Given the description of an element on the screen output the (x, y) to click on. 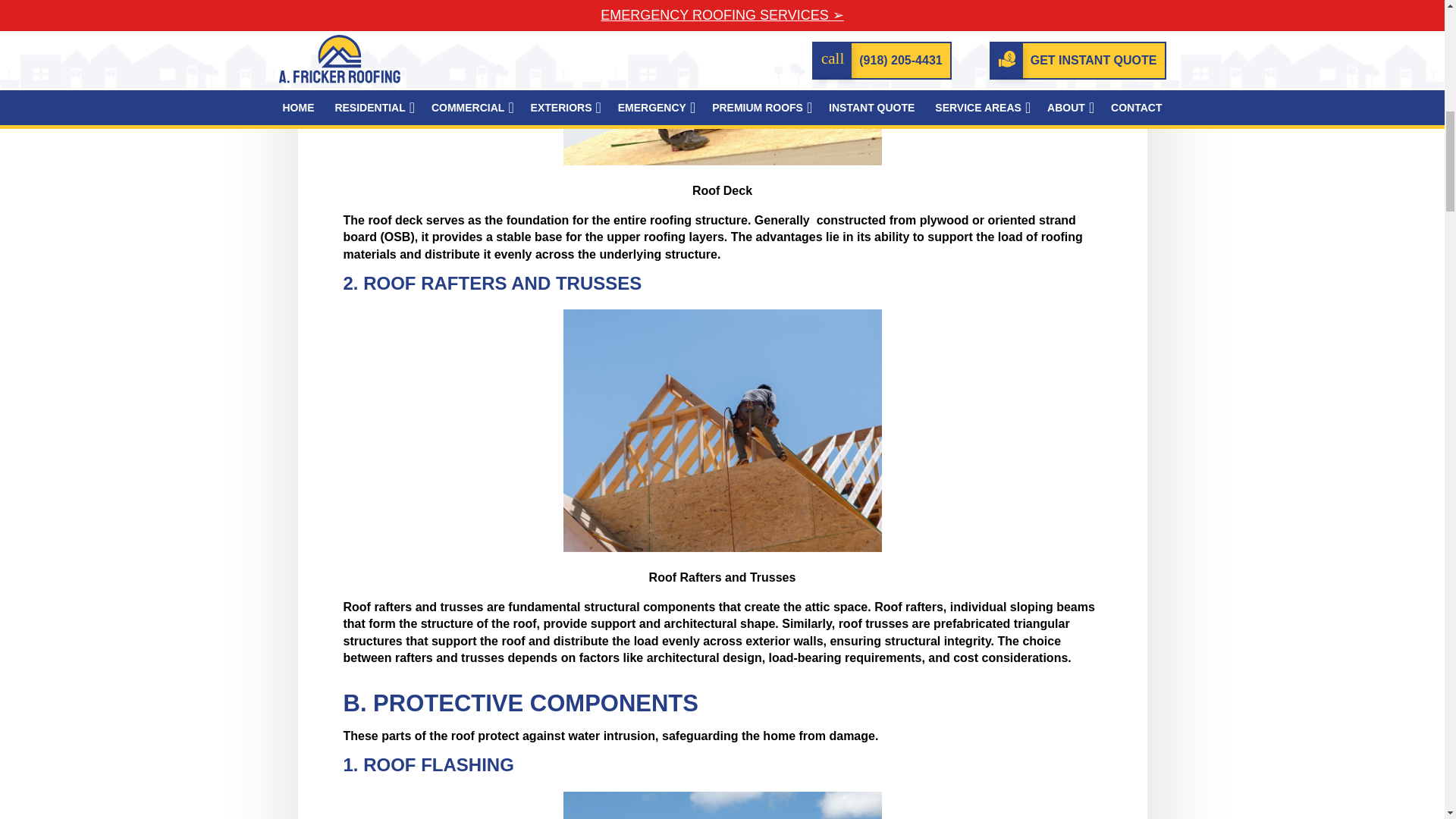
Roofing Terms (721, 430)
Roofing Terms (721, 82)
Roofing Terms (721, 805)
